Given the description of an element on the screen output the (x, y) to click on. 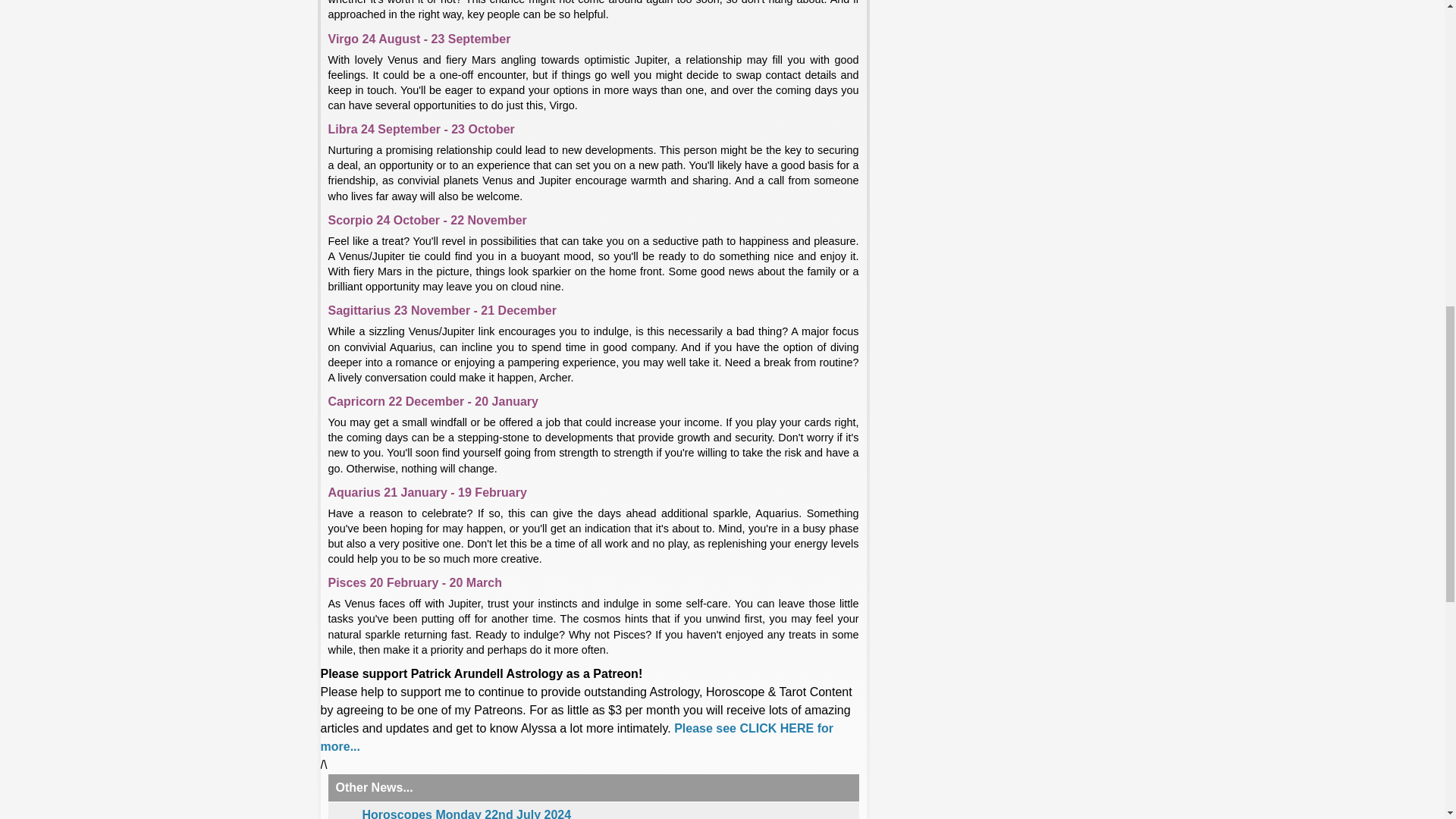
Horoscopes Monday 22nd July 2024 (467, 813)
